Given the description of an element on the screen output the (x, y) to click on. 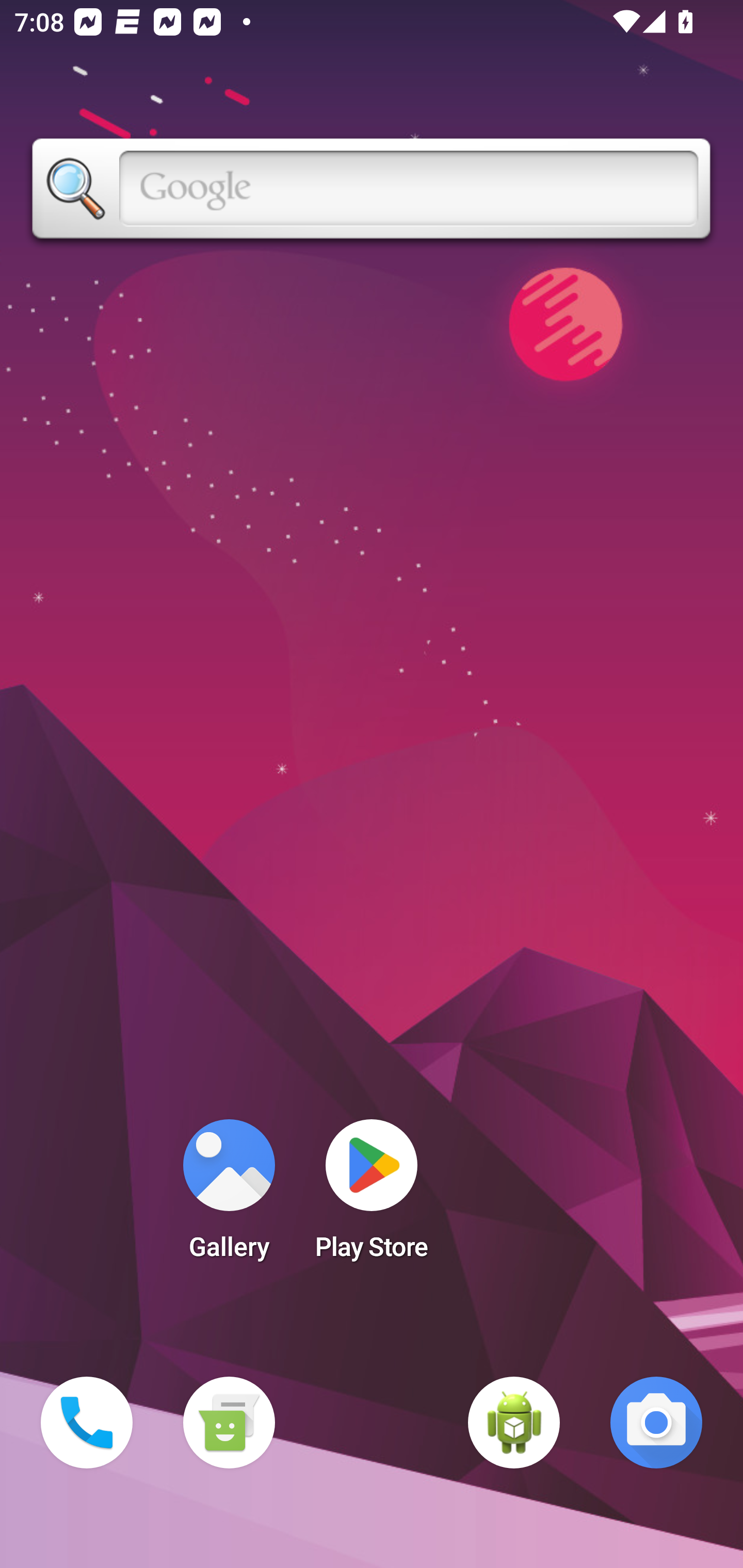
Gallery (228, 1195)
Play Store (371, 1195)
Phone (86, 1422)
Messaging (228, 1422)
WebView Browser Tester (513, 1422)
Camera (656, 1422)
